Given the description of an element on the screen output the (x, y) to click on. 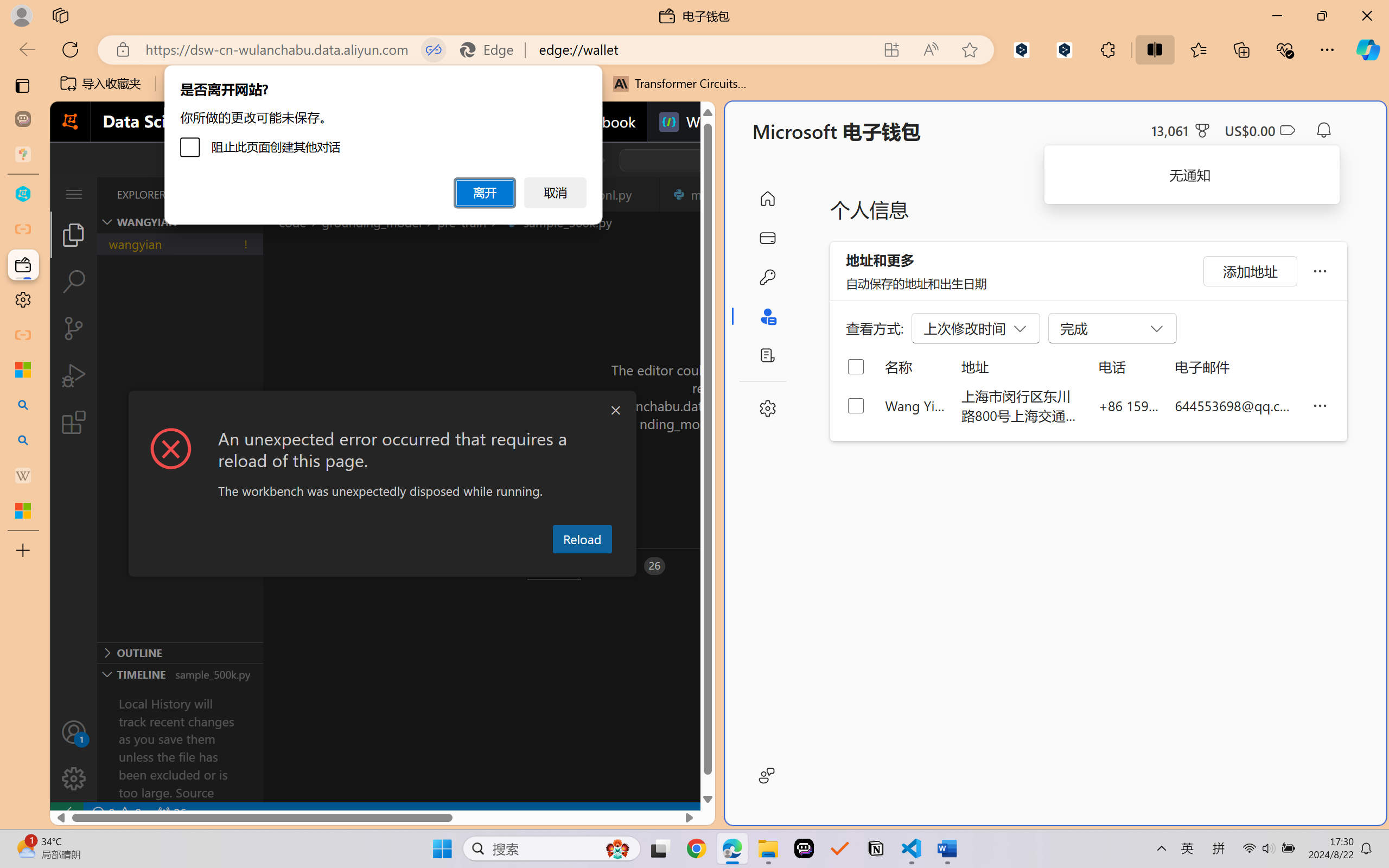
Output (Ctrl+Shift+U) (377, 565)
Reload (581, 538)
Accounts - Sign in requested (73, 732)
